Given the description of an element on the screen output the (x, y) to click on. 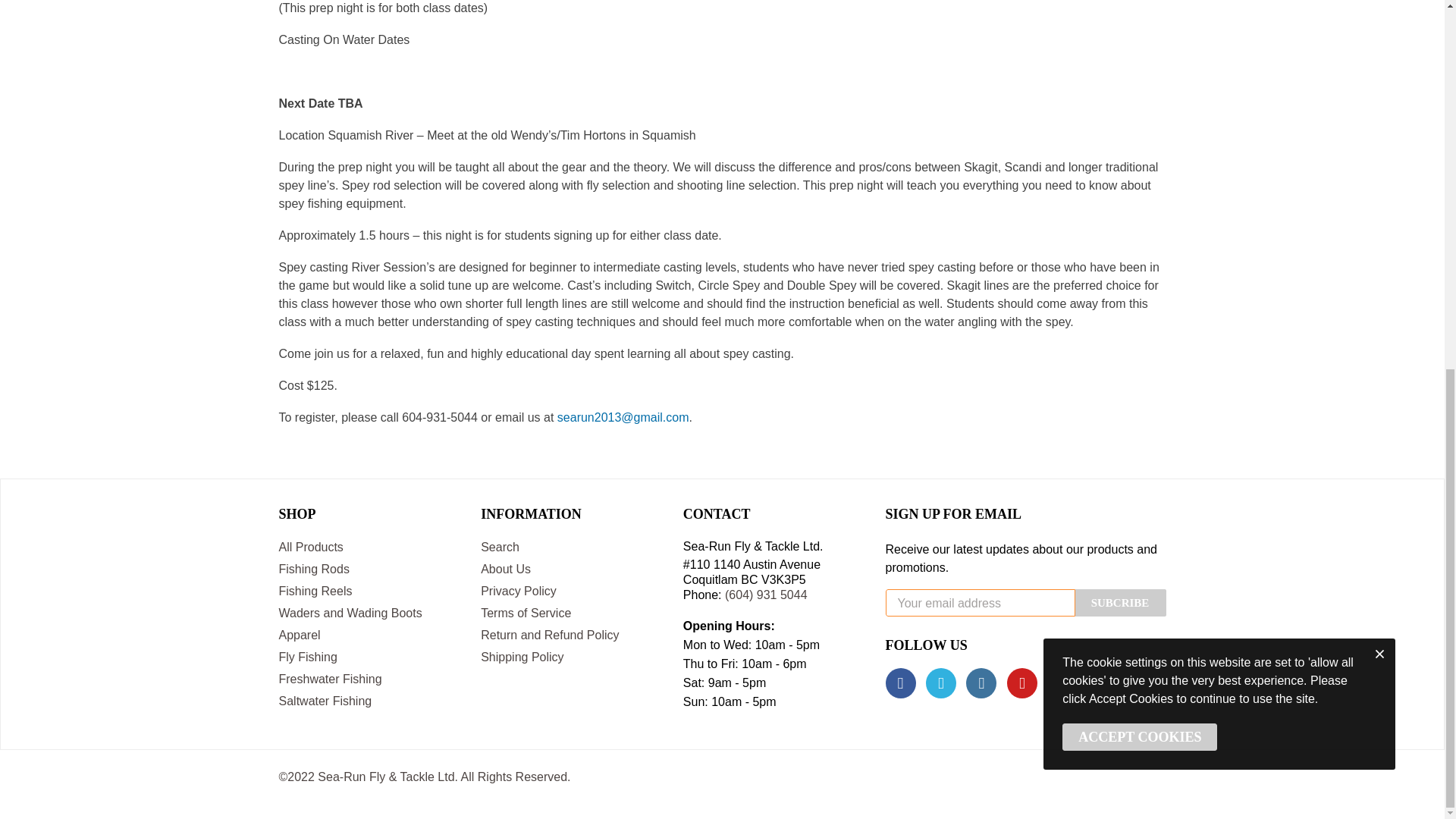
Return and Refund Policy (570, 635)
Apparel (368, 635)
Privacy Policy (570, 591)
Subcribe (1120, 602)
All Products (368, 547)
Freshwater Fishing (368, 680)
Fly Fishing (368, 658)
Saltwater Fishing (368, 701)
Terms of Service (570, 613)
Waders and Wading Boots (368, 613)
Fishing Reels (368, 591)
About Us (570, 569)
Fishing Rods (368, 569)
Search (570, 547)
